Given the description of an element on the screen output the (x, y) to click on. 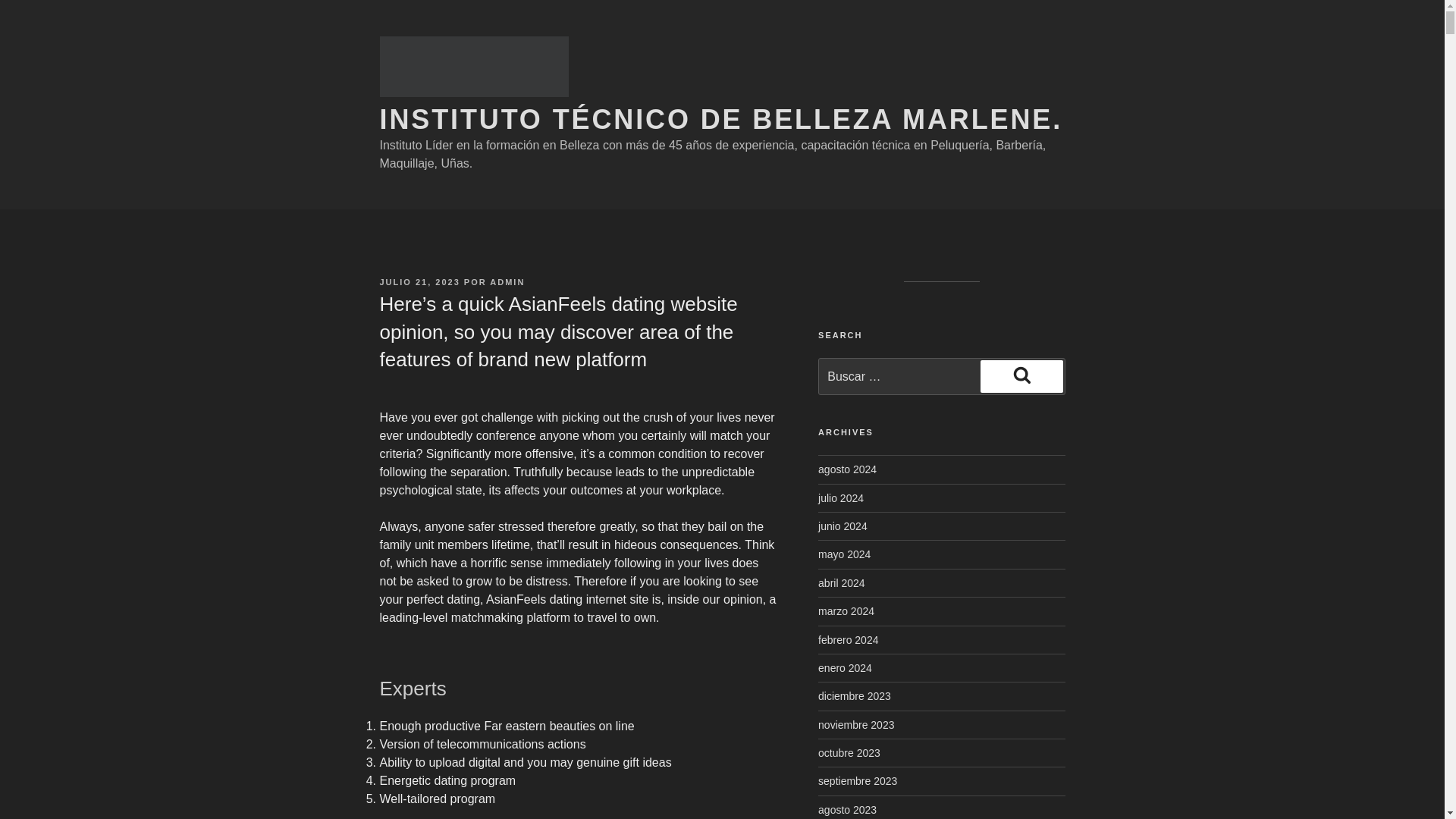
Buscar (1020, 376)
octubre 2023 (849, 752)
mayo 2024 (844, 553)
septiembre 2023 (857, 780)
marzo 2024 (846, 611)
agosto 2024 (847, 469)
agosto 2023 (847, 809)
diciembre 2023 (854, 695)
enero 2024 (845, 667)
ADMIN (506, 281)
